Given the description of an element on the screen output the (x, y) to click on. 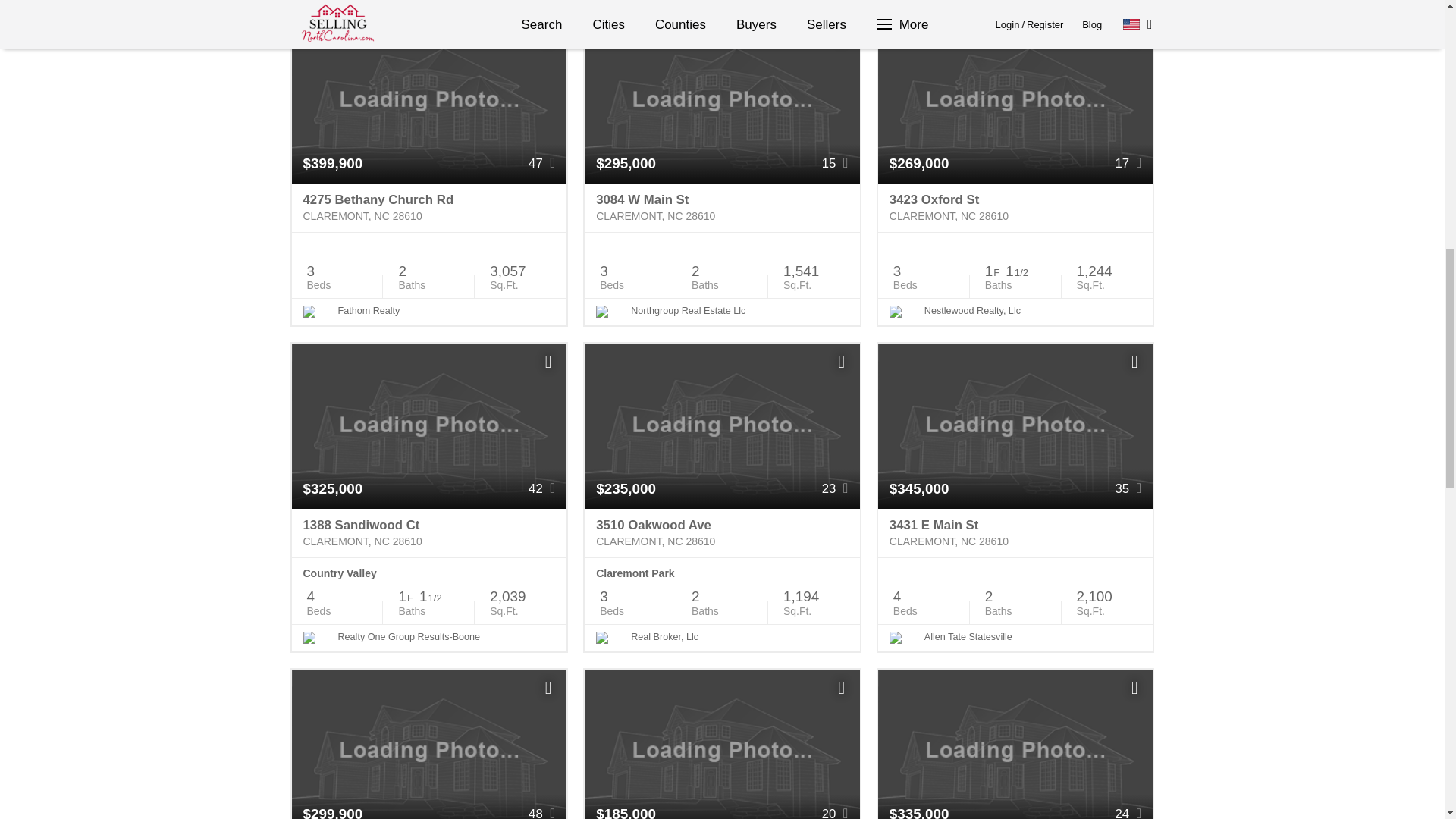
3510 Oakwood Ave Claremont,  NC 28610 (722, 532)
1388 Sandiwood Ct Claremont,  NC 28610 (428, 532)
3423 Oxford St Claremont,  NC 28610 (1015, 207)
3431 E Main St Claremont,  NC 28610 (1015, 532)
3084 W Main St Claremont,  NC 28610 (722, 207)
4275 Bethany Church Rd Claremont,  NC 28610 (428, 207)
